Given the description of an element on the screen output the (x, y) to click on. 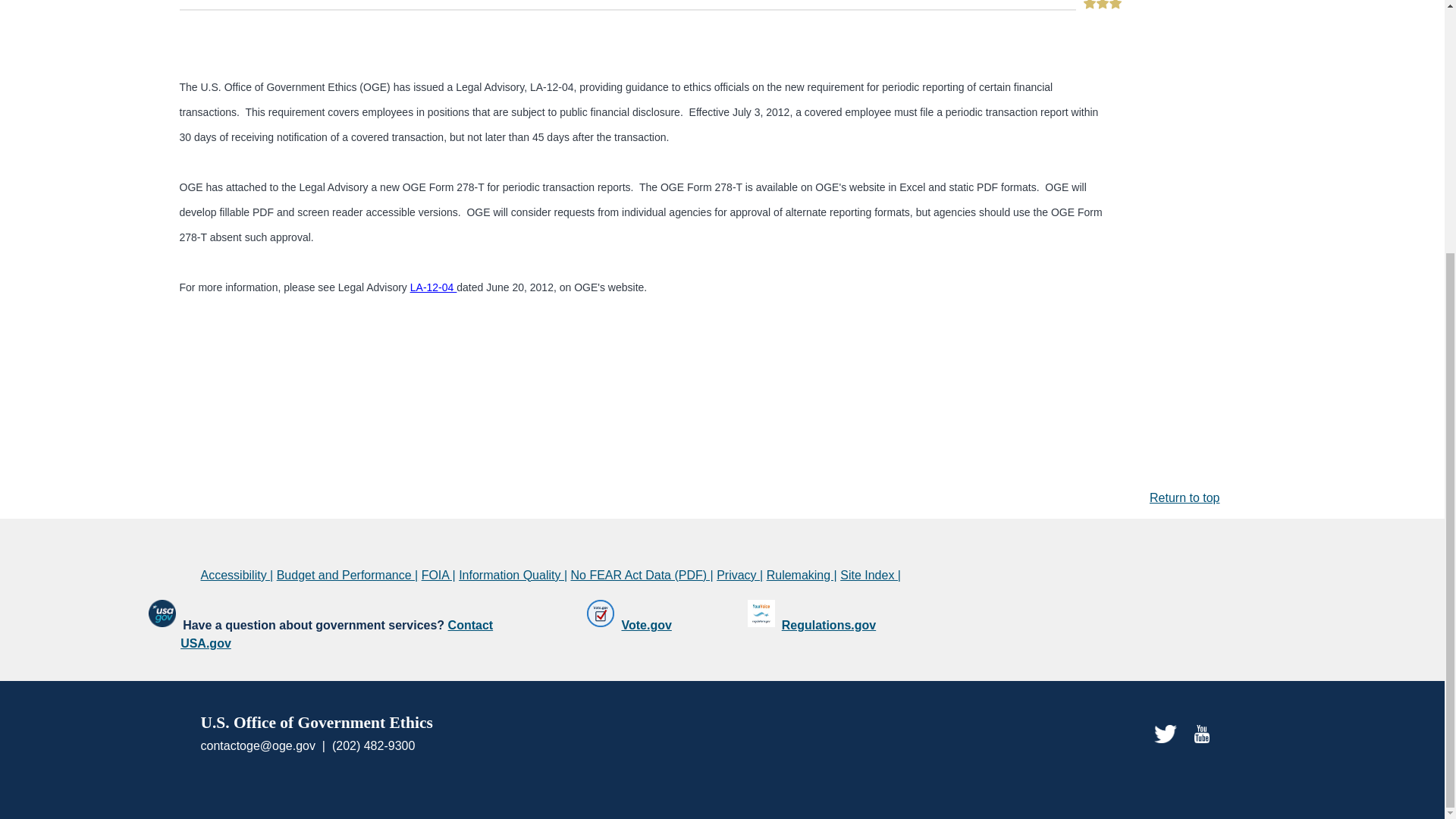
LA-12-04  (433, 287)
Return to top (1185, 497)
Contact USA.gov (336, 634)
Regulations.gov (828, 625)
Vote.gov (646, 625)
